Given the description of an element on the screen output the (x, y) to click on. 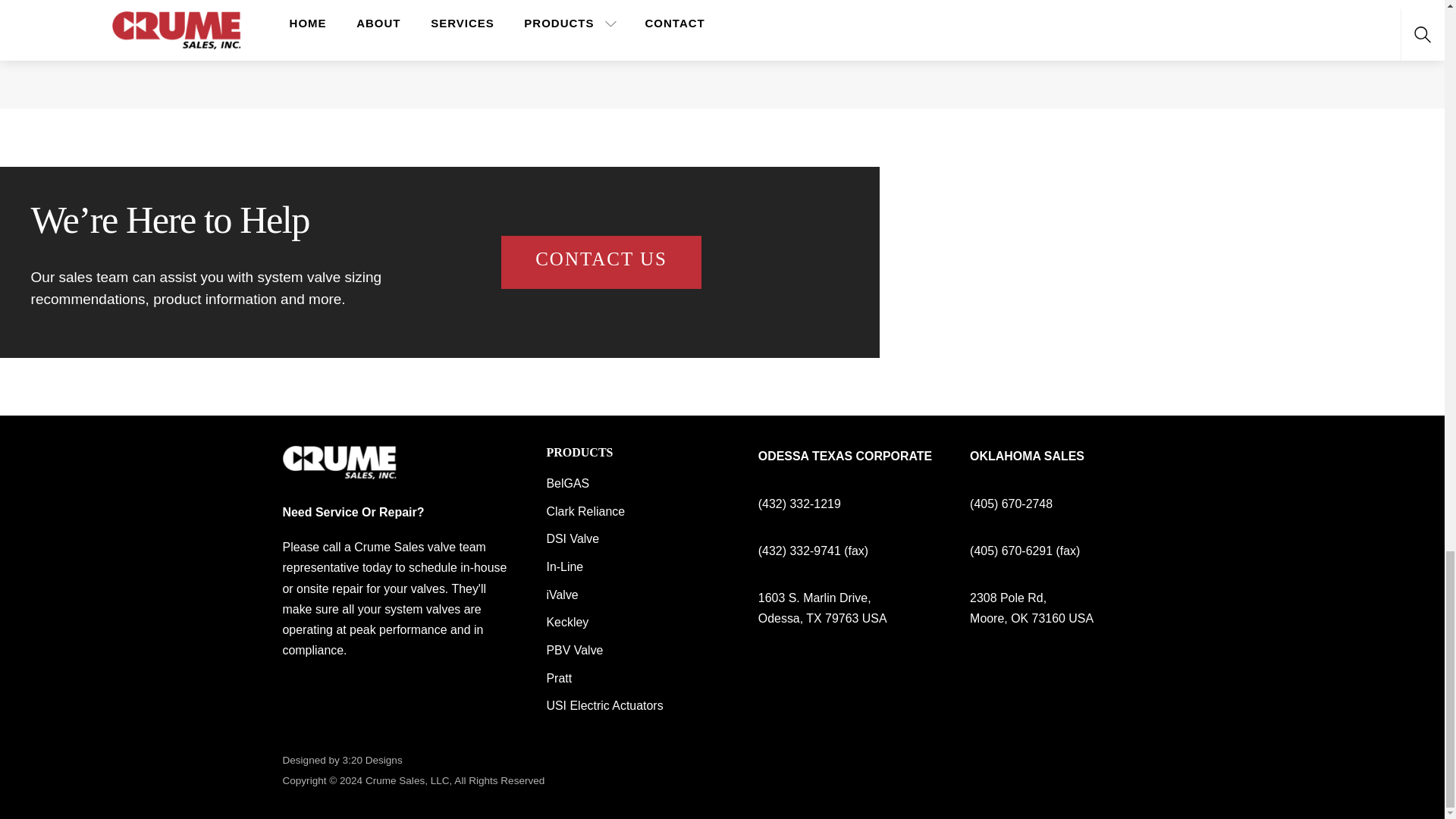
CONTACT US (600, 262)
Crume Sales (339, 472)
